Given the description of an element on the screen output the (x, y) to click on. 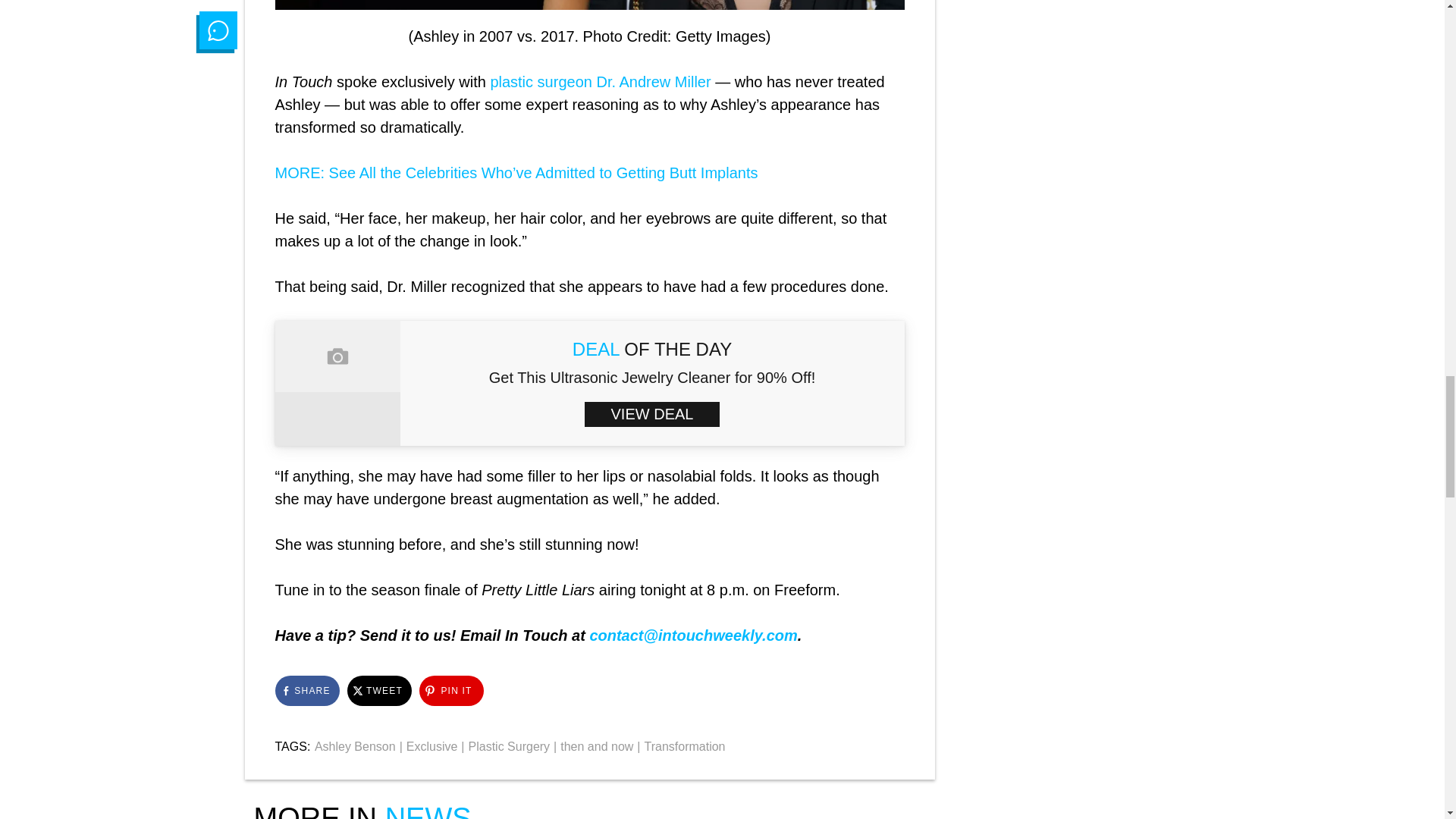
Click to share on Pinterest (451, 690)
ashley benson plastic surgery  (589, 5)
Click to share on Twitter (379, 690)
Click to share on Facebook (307, 690)
